Given the description of an element on the screen output the (x, y) to click on. 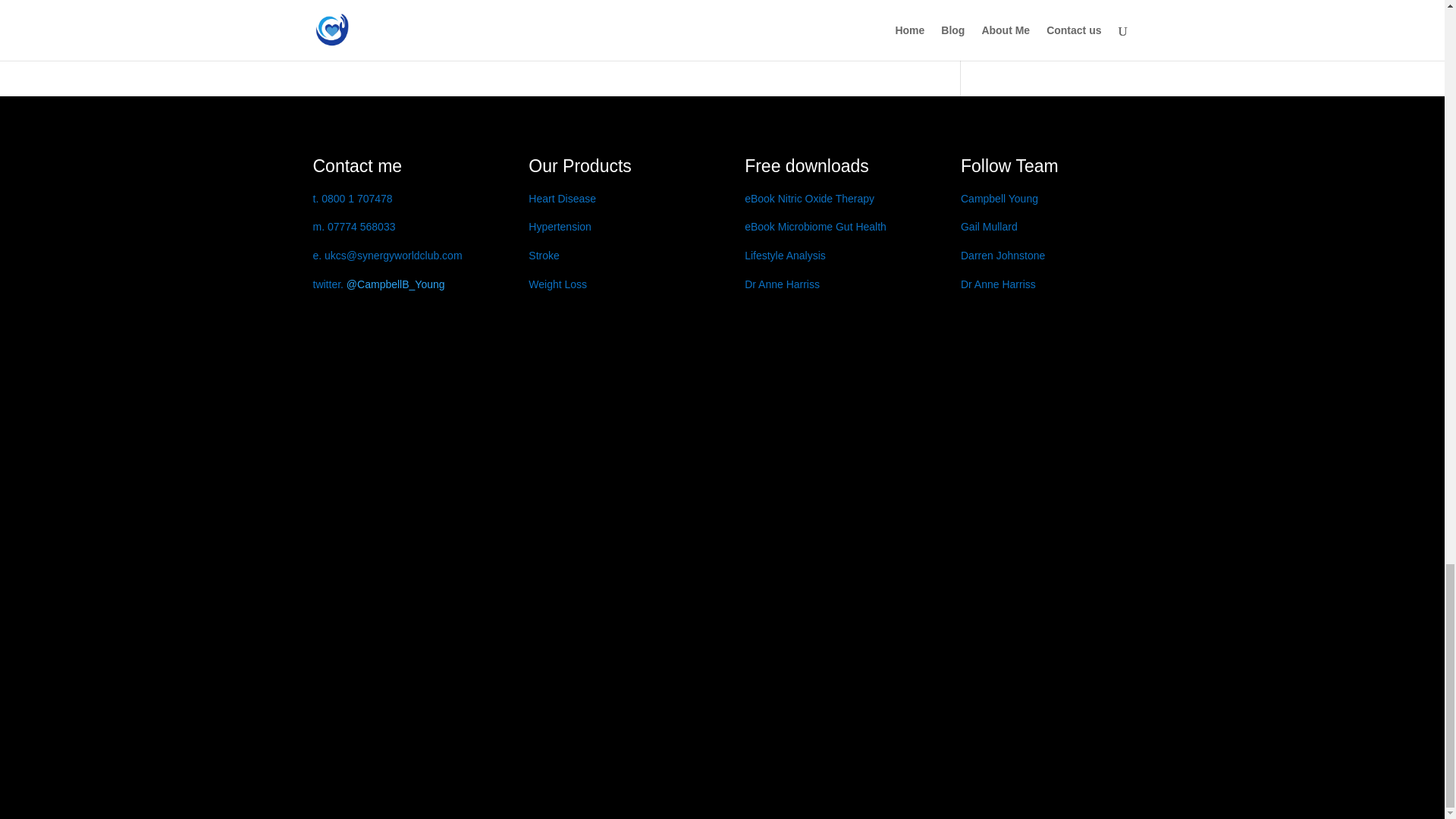
My Story (357, 166)
Contact me (357, 166)
